Given the description of an element on the screen output the (x, y) to click on. 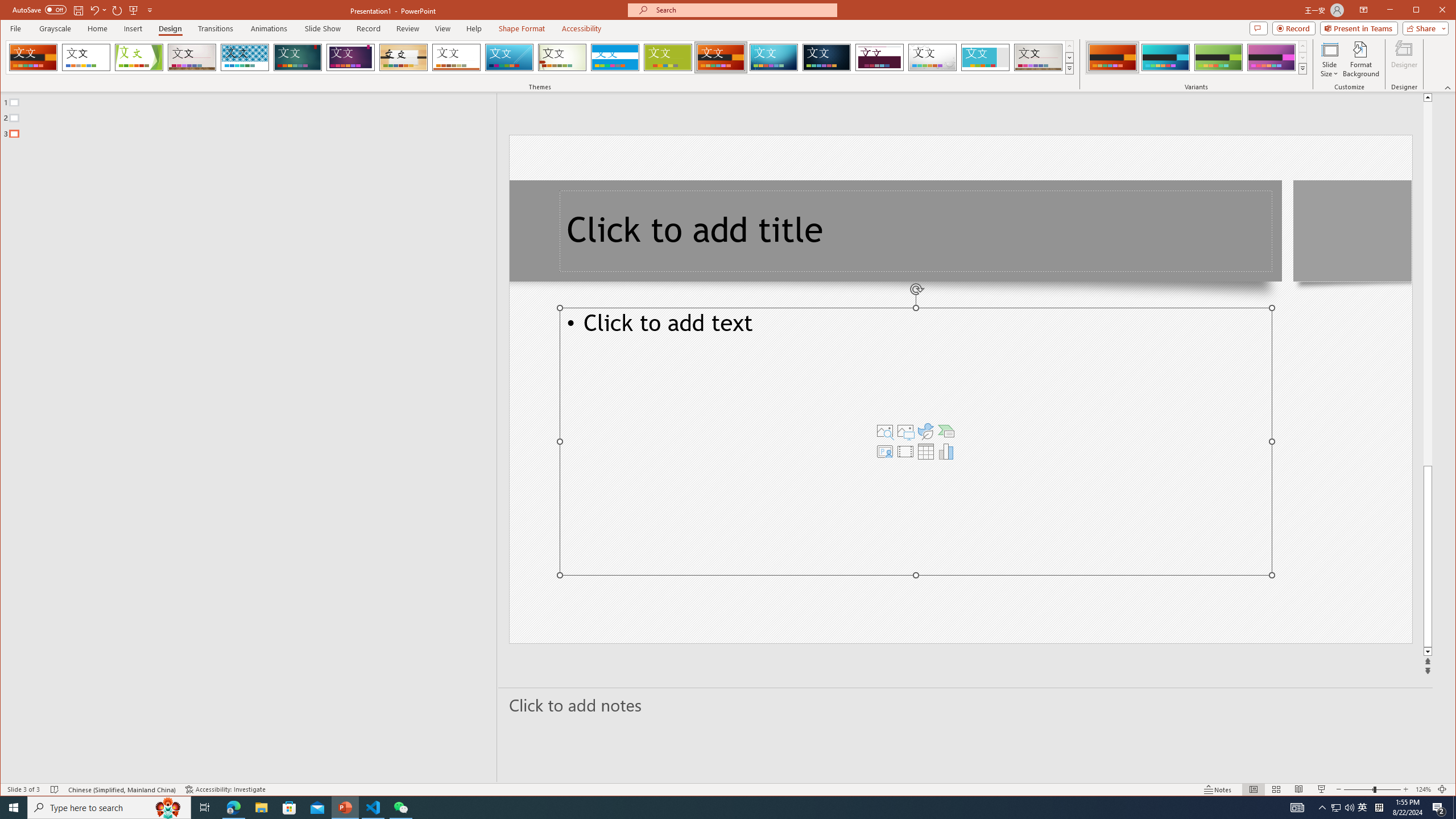
Slide Notes (965, 704)
WeChat - 1 running window (400, 807)
Berlin Variant 3 (1218, 57)
Maximize (1432, 11)
